Given the description of an element on the screen output the (x, y) to click on. 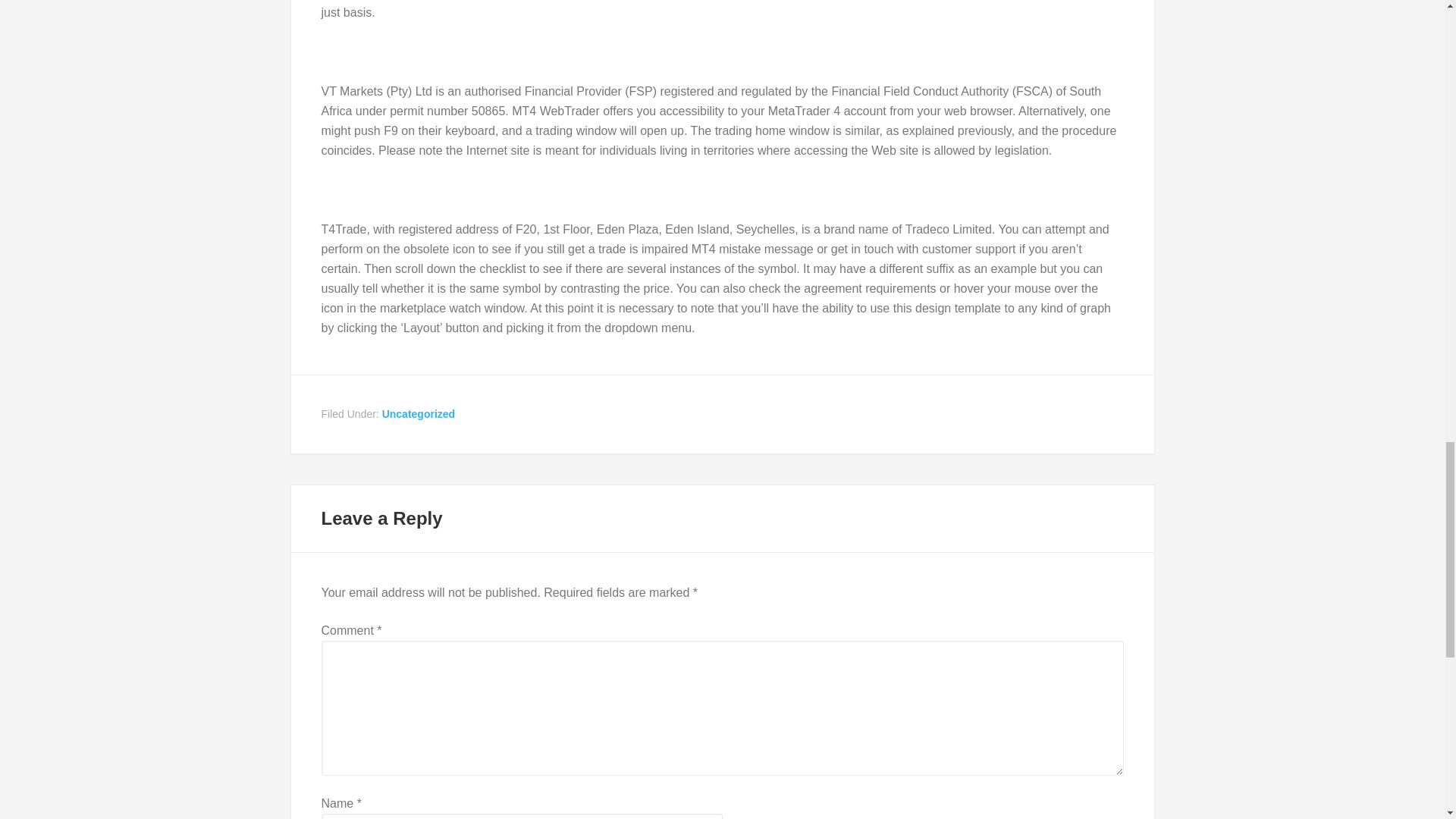
Uncategorized (417, 413)
